Given the description of an element on the screen output the (x, y) to click on. 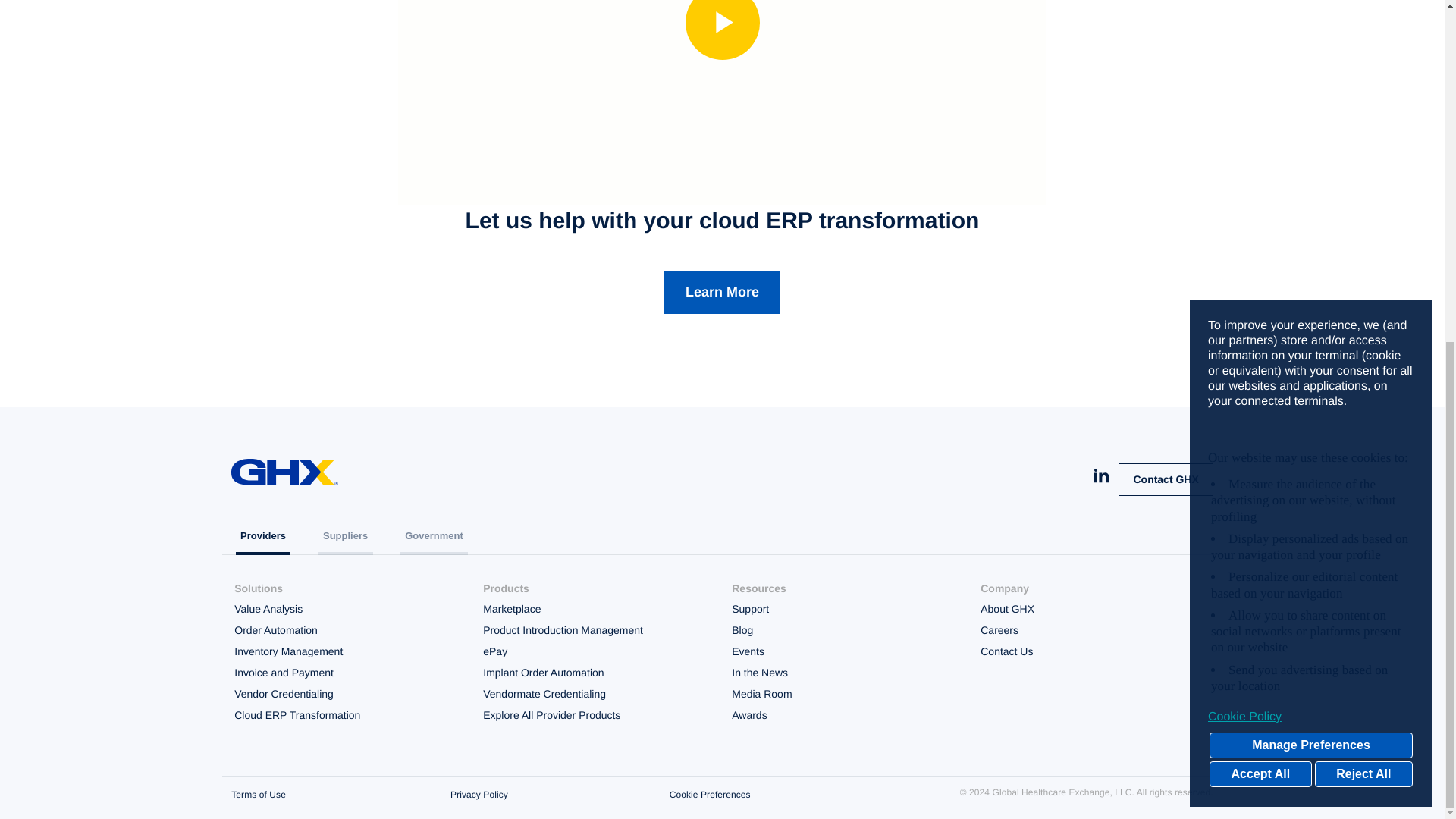
Cookie Policy (1310, 135)
Learn More (721, 292)
Accept All (1260, 192)
Reject All (1363, 192)
Manage Preferences (1310, 163)
